Given the description of an element on the screen output the (x, y) to click on. 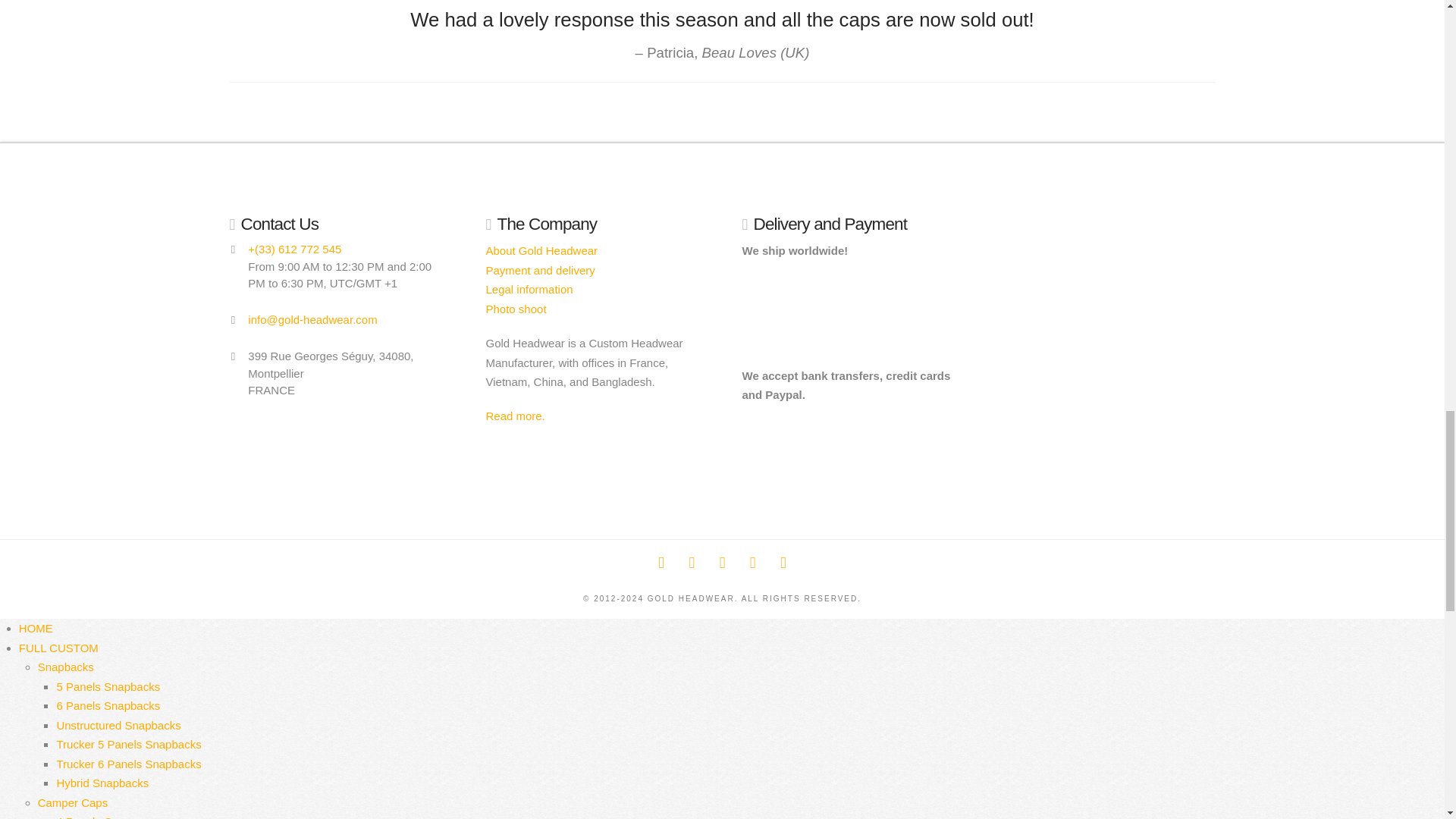
Learn more about payment terms and shipping methods (539, 269)
LinkedIn (722, 562)
Instagram (752, 562)
Facebook (660, 562)
Learn more about the company (540, 250)
Call Us (293, 248)
RSS (783, 562)
Email Us (312, 318)
Twitter (691, 562)
